Given the description of an element on the screen output the (x, y) to click on. 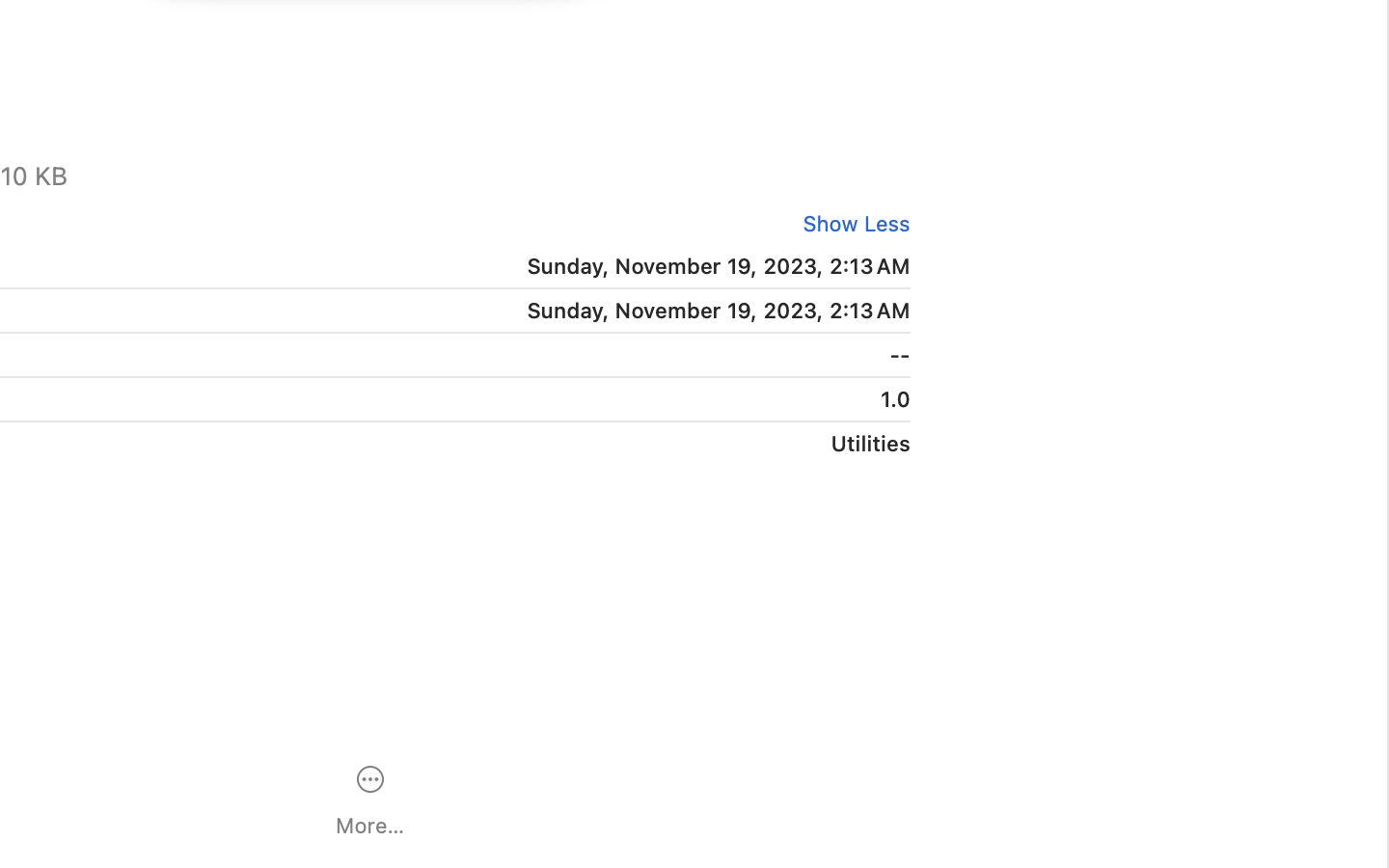
1 Element type: AXCheckBox (849, 223)
